Given the description of an element on the screen output the (x, y) to click on. 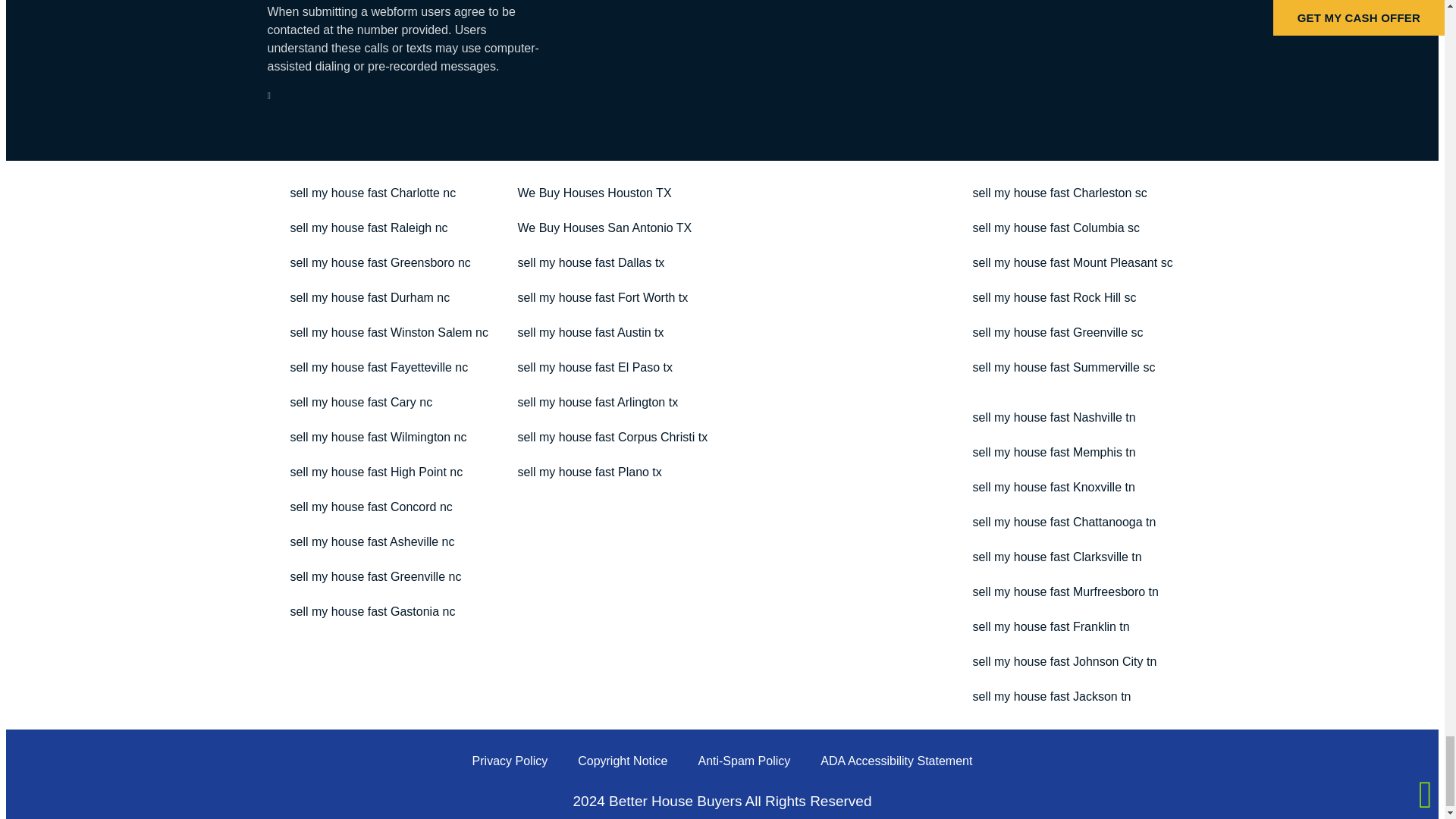
sell my house fast Charlotte nc (372, 193)
sell my house fast Durham nc (369, 297)
sell my house fast Raleigh nc (369, 227)
sell my house fast Greensboro nc (379, 262)
